Given the description of an element on the screen output the (x, y) to click on. 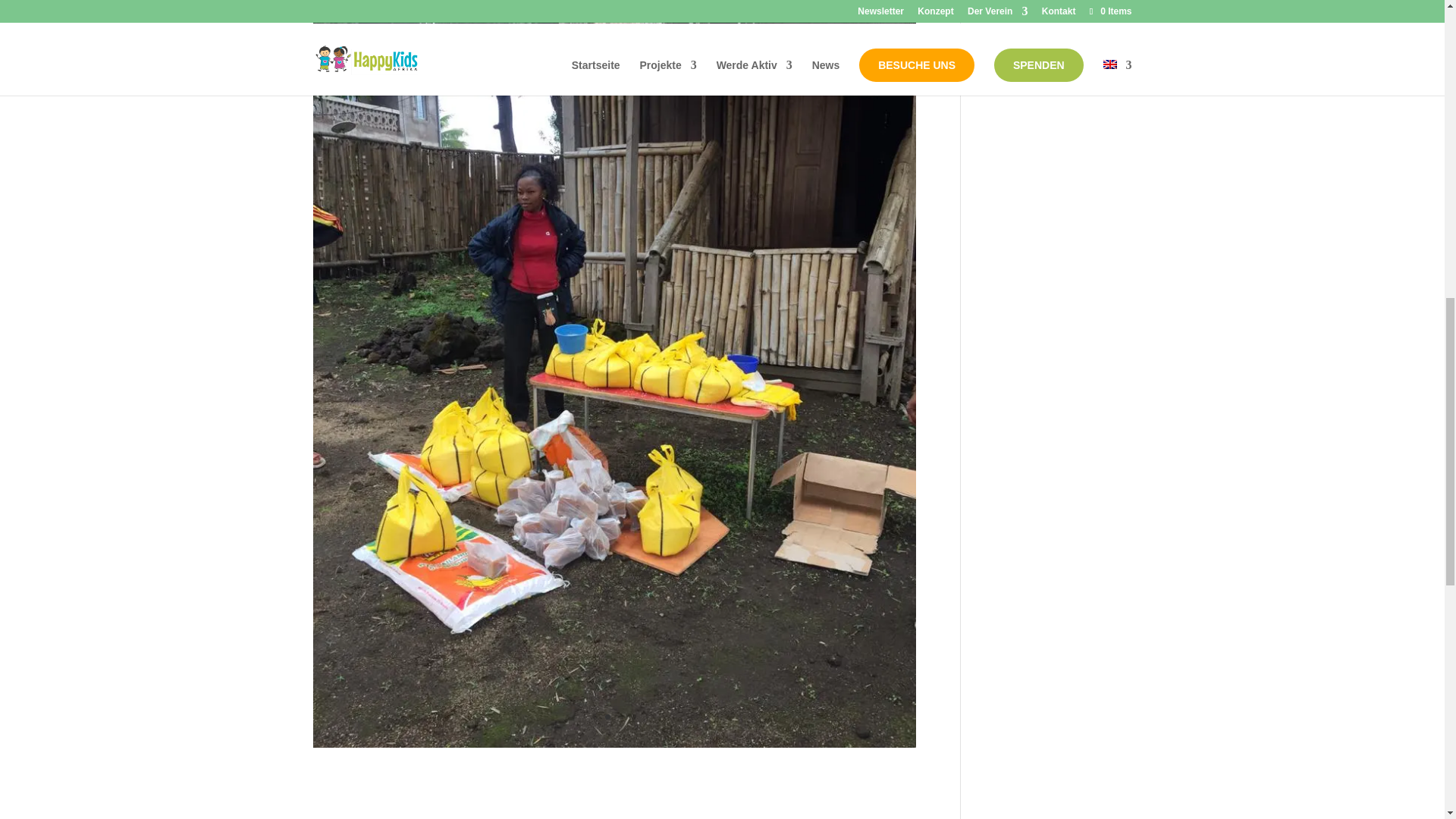
PHOTO-2020-04-11-17-49-51 (614, 747)
